Given the description of an element on the screen output the (x, y) to click on. 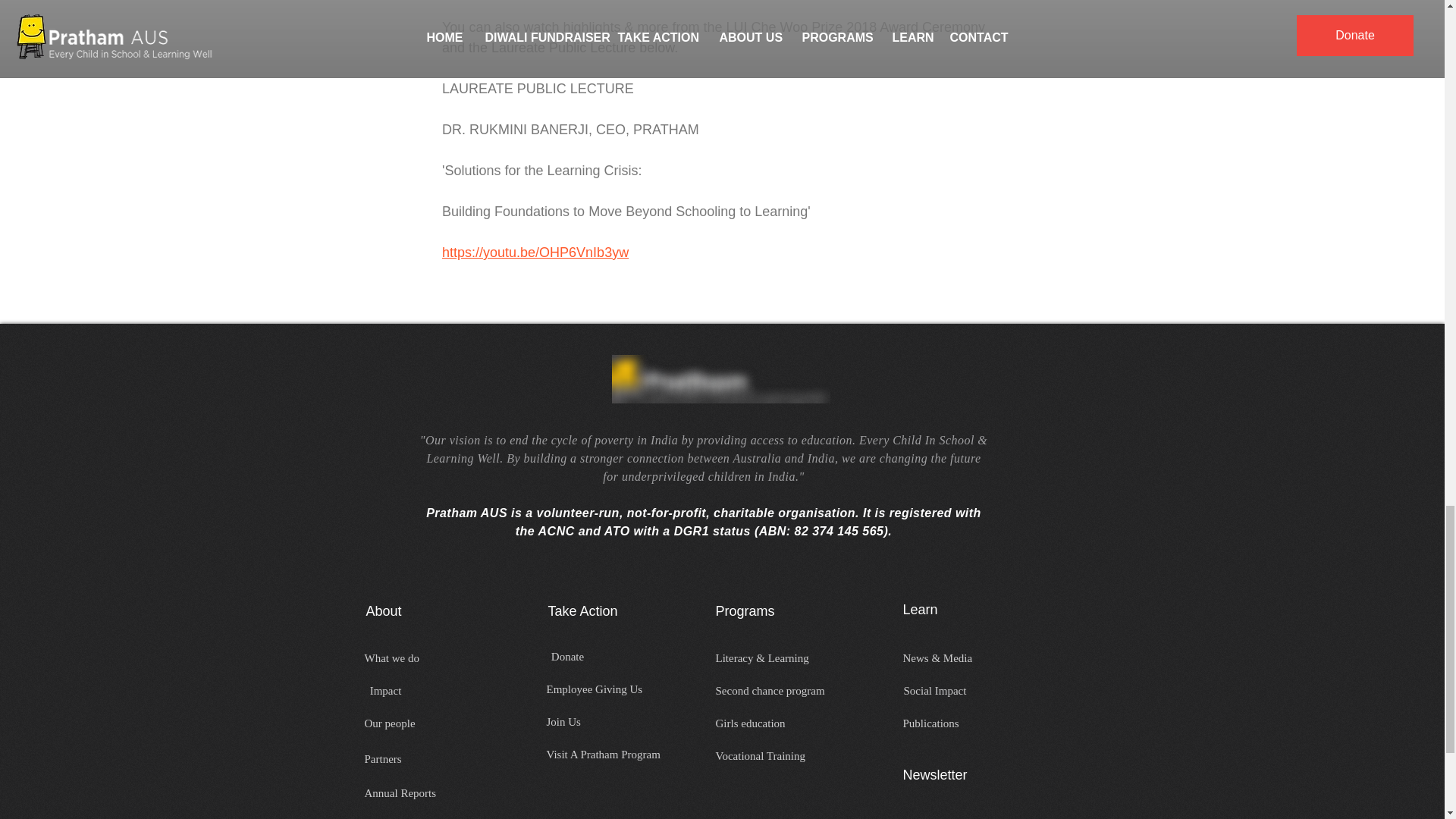
Our people (425, 723)
Visit A Pratham Program (615, 754)
Employee Giving Us (608, 689)
Partners (398, 758)
Annual Reports (406, 793)
Donate (567, 656)
Impact (385, 691)
What we do (402, 658)
Join Us (568, 722)
